Given the description of an element on the screen output the (x, y) to click on. 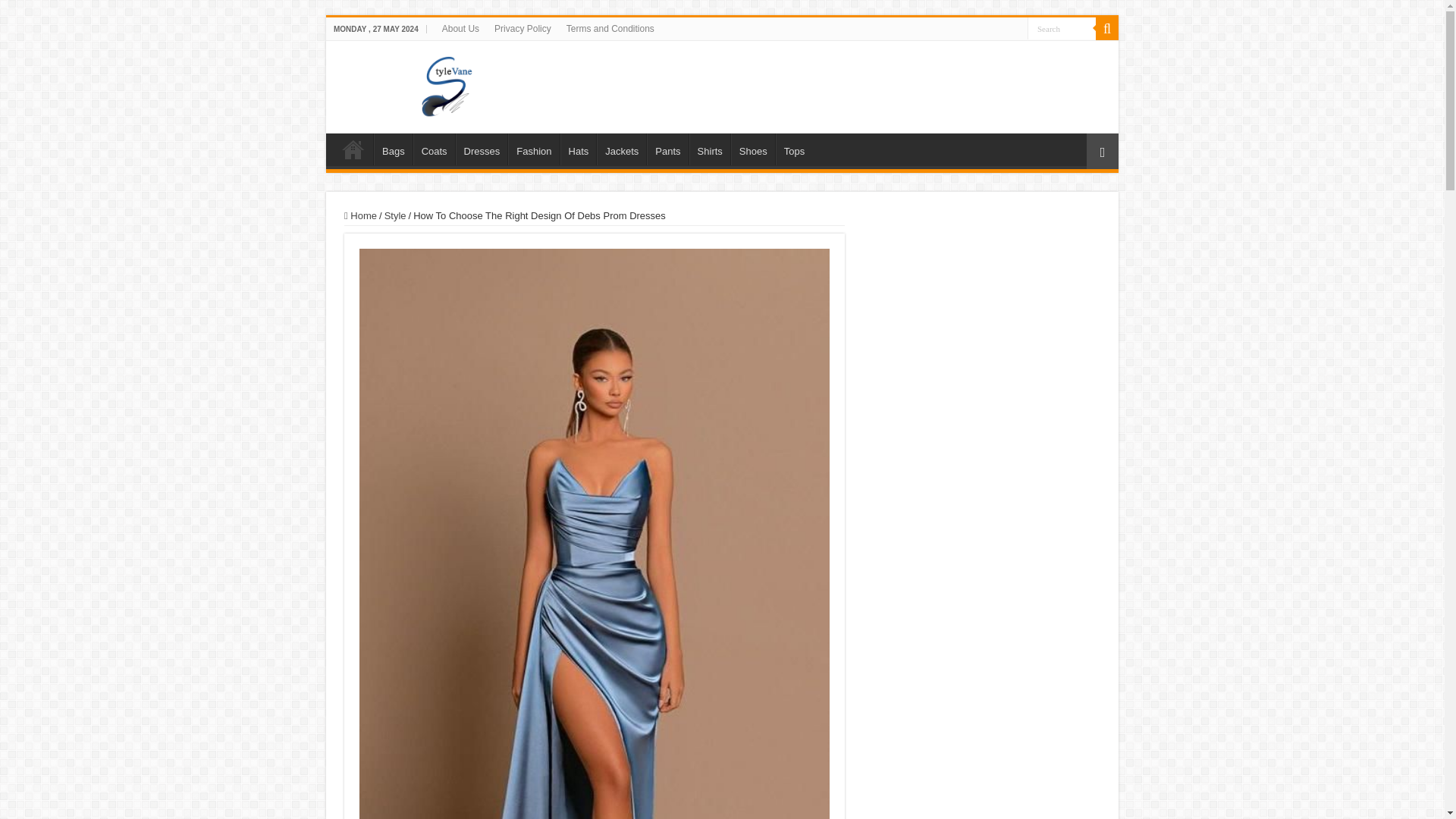
Search (1061, 28)
Terms and Conditions (610, 28)
Shirts (709, 149)
Fashion (533, 149)
Search (1107, 28)
Style (395, 215)
Search (1061, 28)
About Us (459, 28)
Home (352, 149)
Home (360, 215)
Coats (433, 149)
stylevane.com (721, 84)
Tops (794, 149)
Pants (666, 149)
Jackets (621, 149)
